Given the description of an element on the screen output the (x, y) to click on. 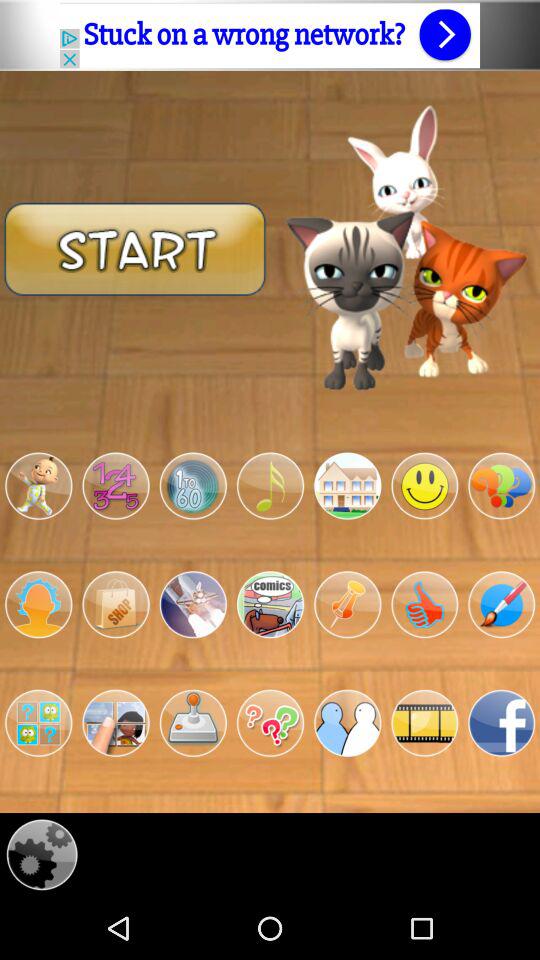
choose numbers (115, 485)
